Given the description of an element on the screen output the (x, y) to click on. 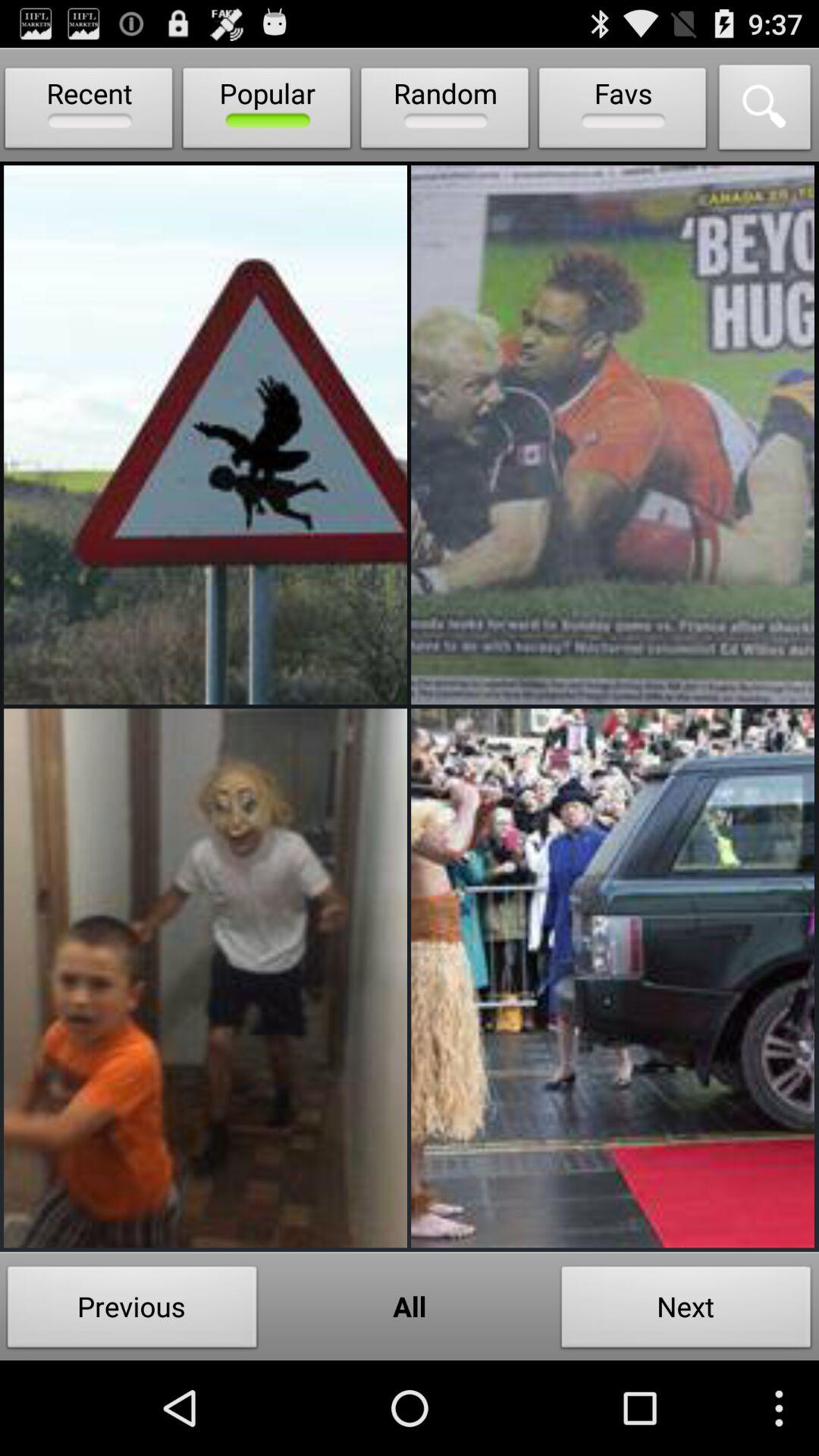
tap the item to the left of favs icon (445, 111)
